Given the description of an element on the screen output the (x, y) to click on. 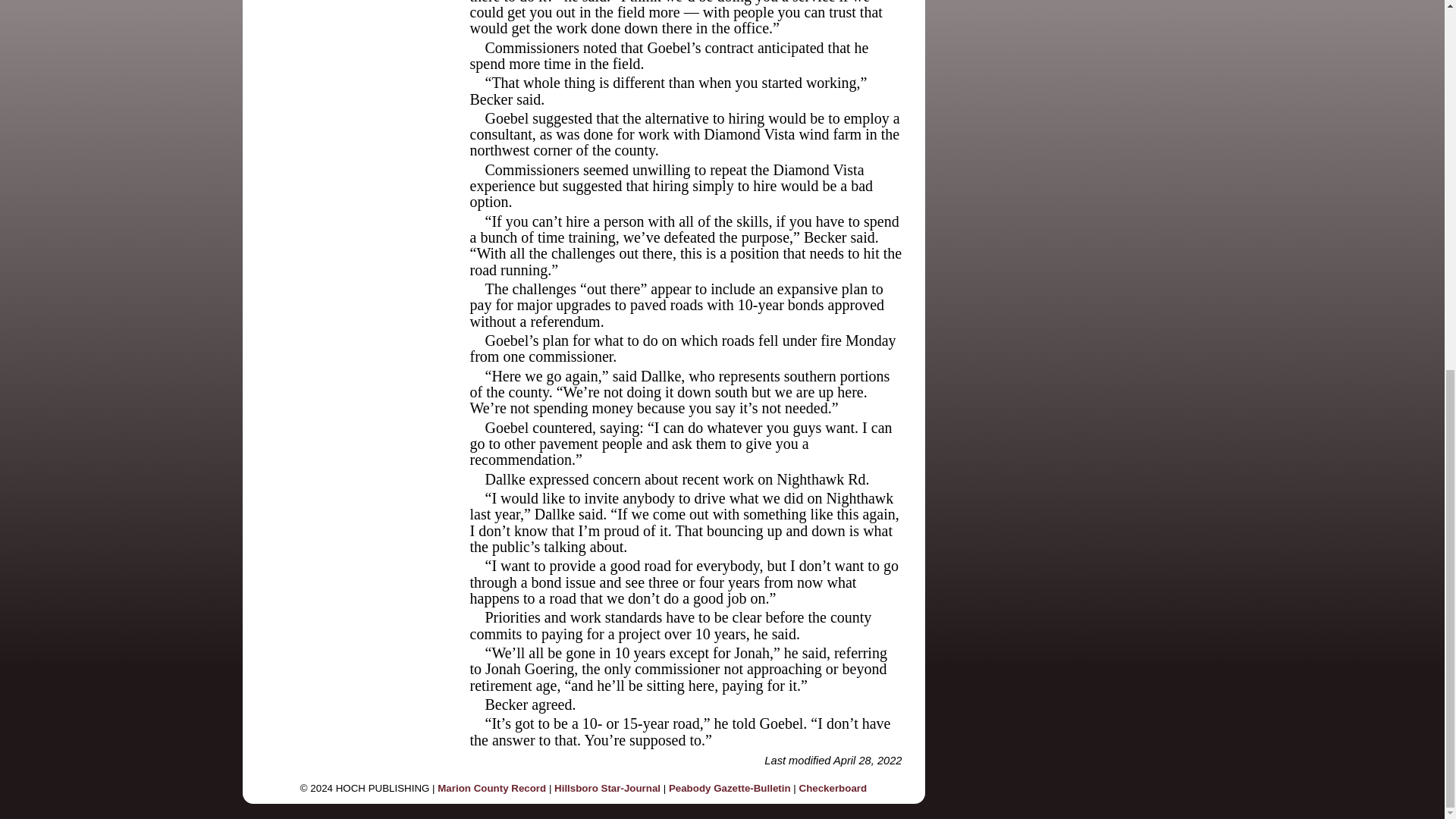
Marion County Record (492, 787)
Peabody Gazette-Bulletin (729, 787)
Checkerboard (833, 787)
Hillsboro Star-Journal (607, 787)
